Given the description of an element on the screen output the (x, y) to click on. 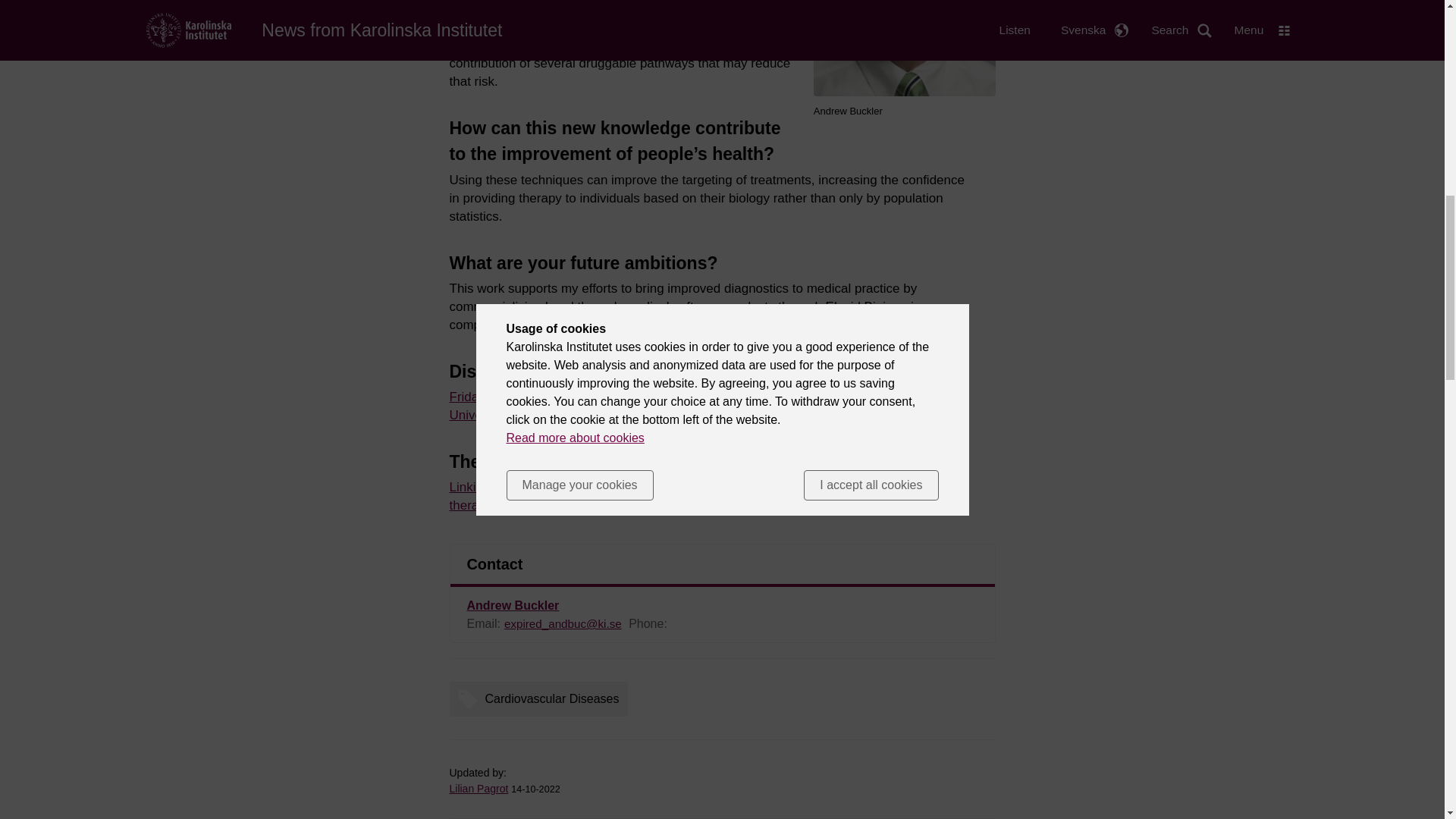
Andrew Buckler (513, 605)
Lilian Pagrot (478, 788)
Cardiovascular Diseases (541, 699)
